Given the description of an element on the screen output the (x, y) to click on. 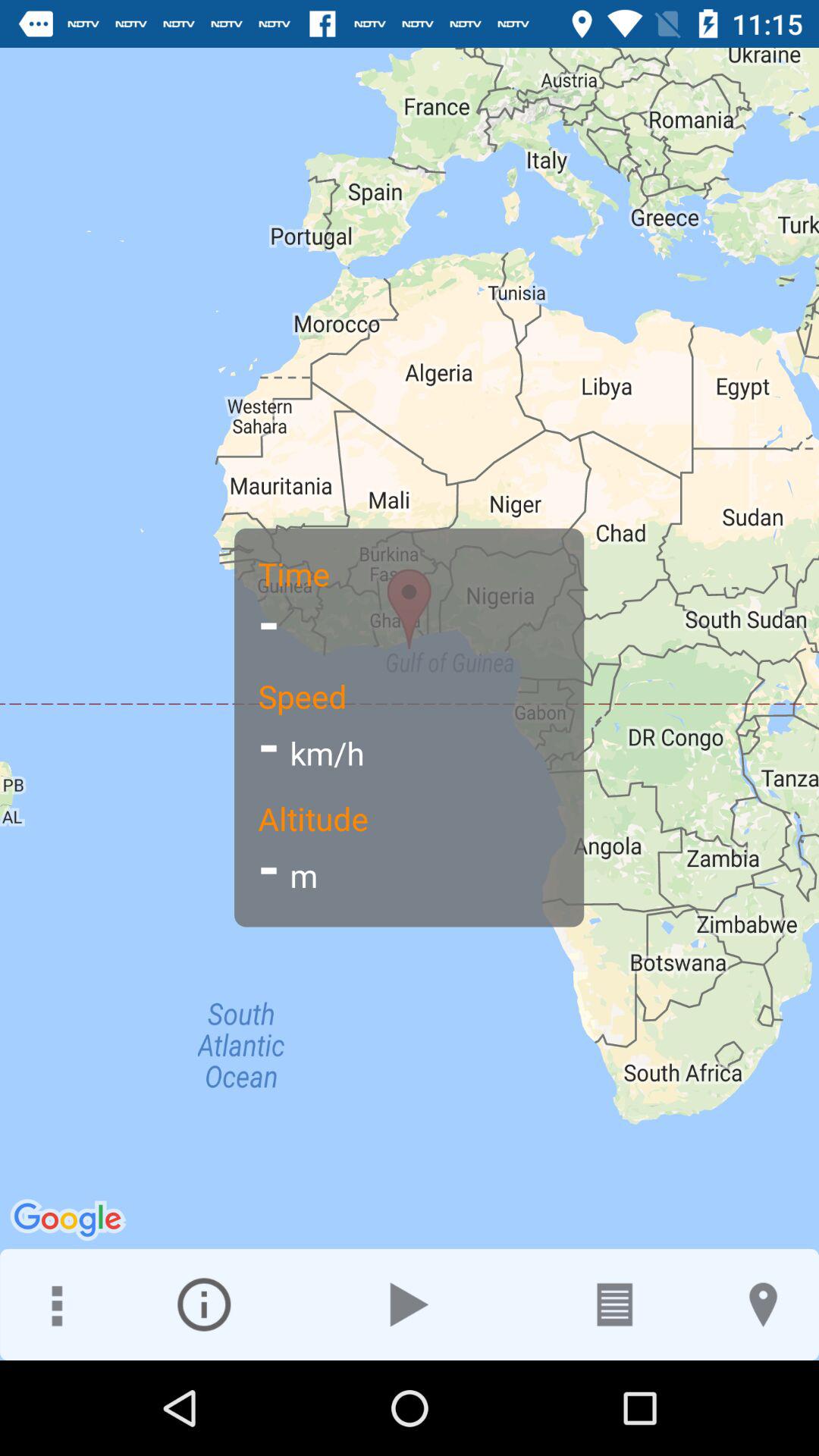
turn on icon below the - (203, 1304)
